Given the description of an element on the screen output the (x, y) to click on. 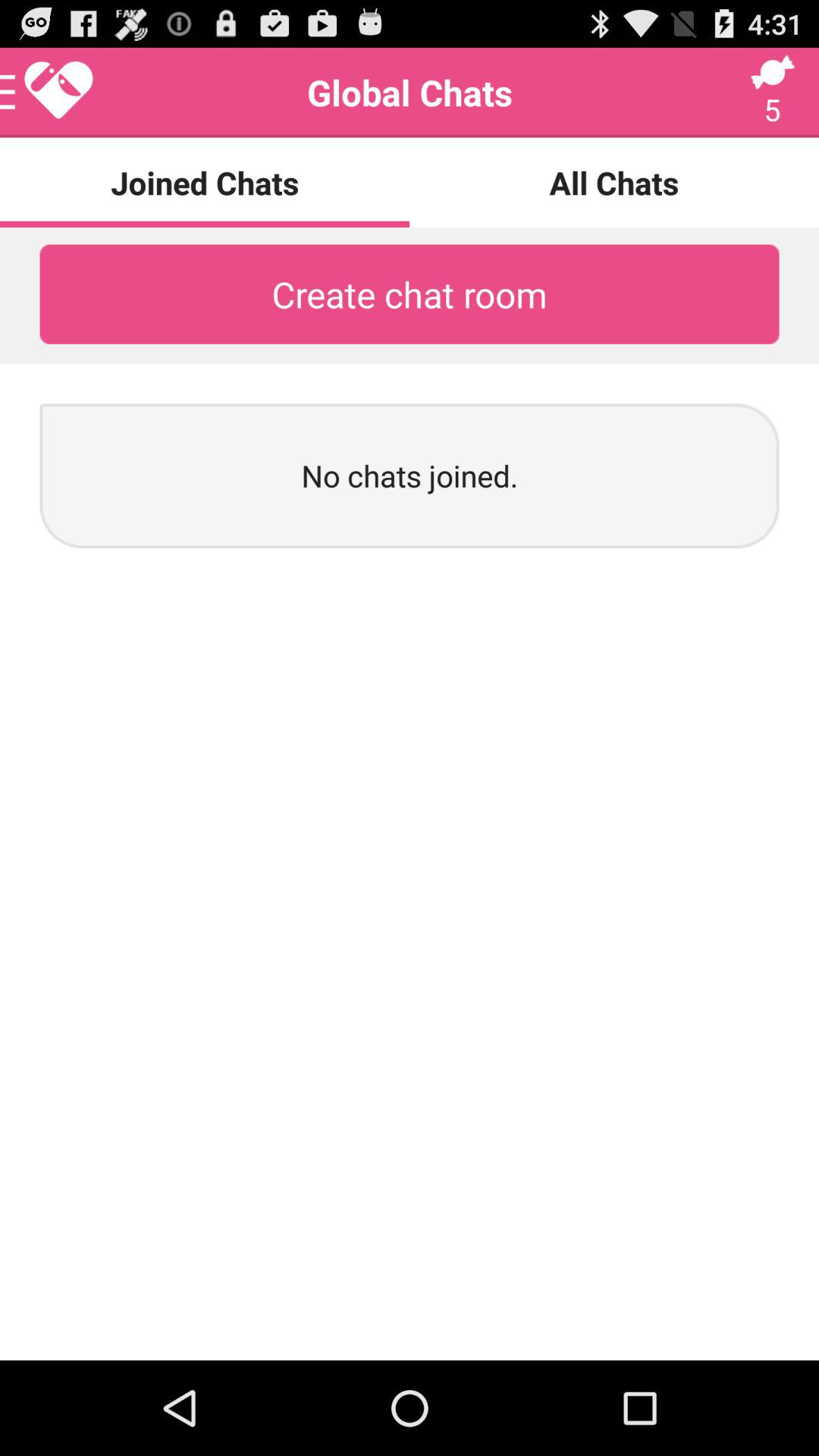
press the create chat room (409, 294)
